Given the description of an element on the screen output the (x, y) to click on. 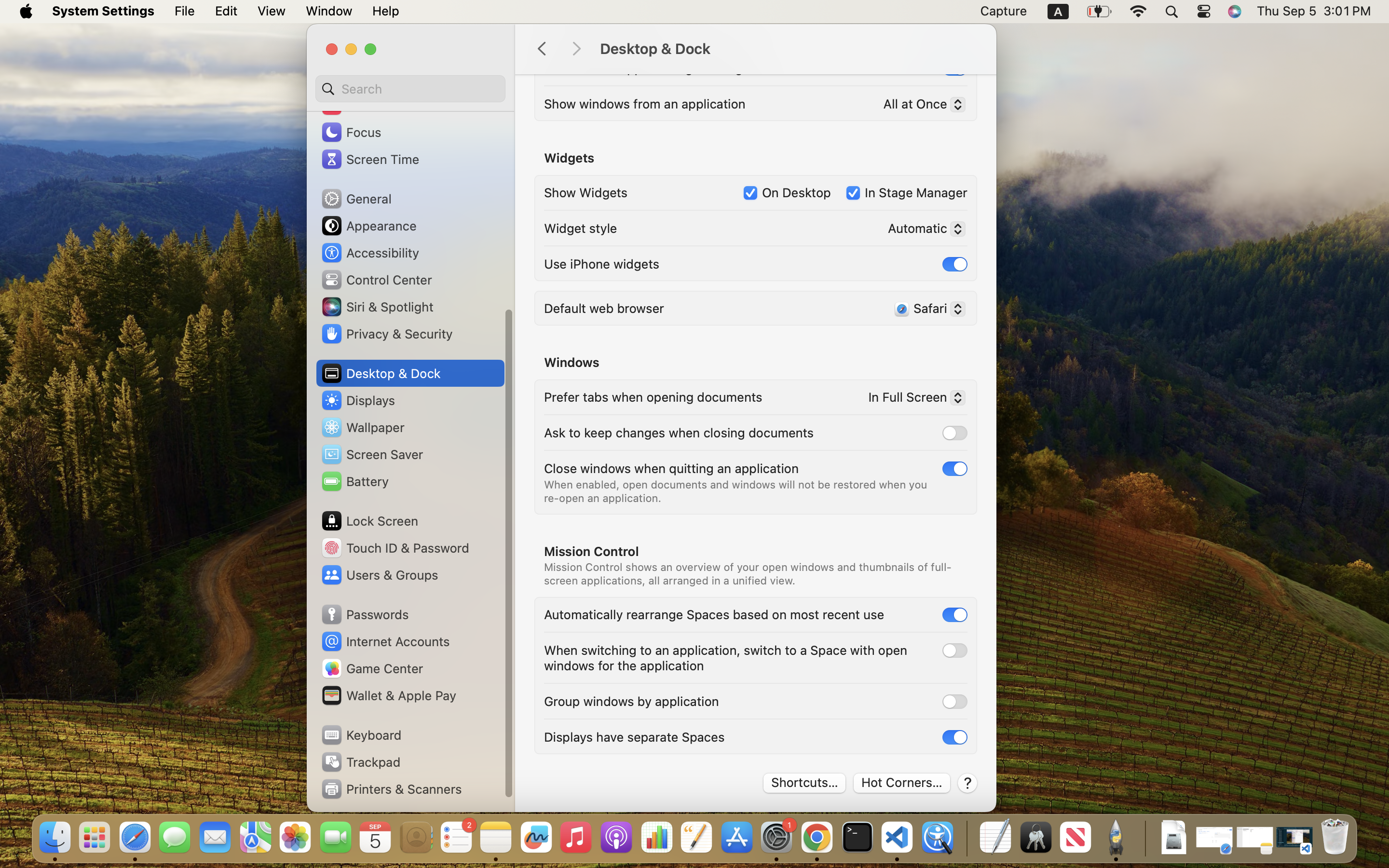
Internet Accounts Element type: AXStaticText (384, 640)
Show windows from an application Element type: AXStaticText (644, 102)
Displays Element type: AXStaticText (357, 399)
Automatically rearrange Spaces based on most recent use Element type: AXStaticText (714, 614)
